Given the description of an element on the screen output the (x, y) to click on. 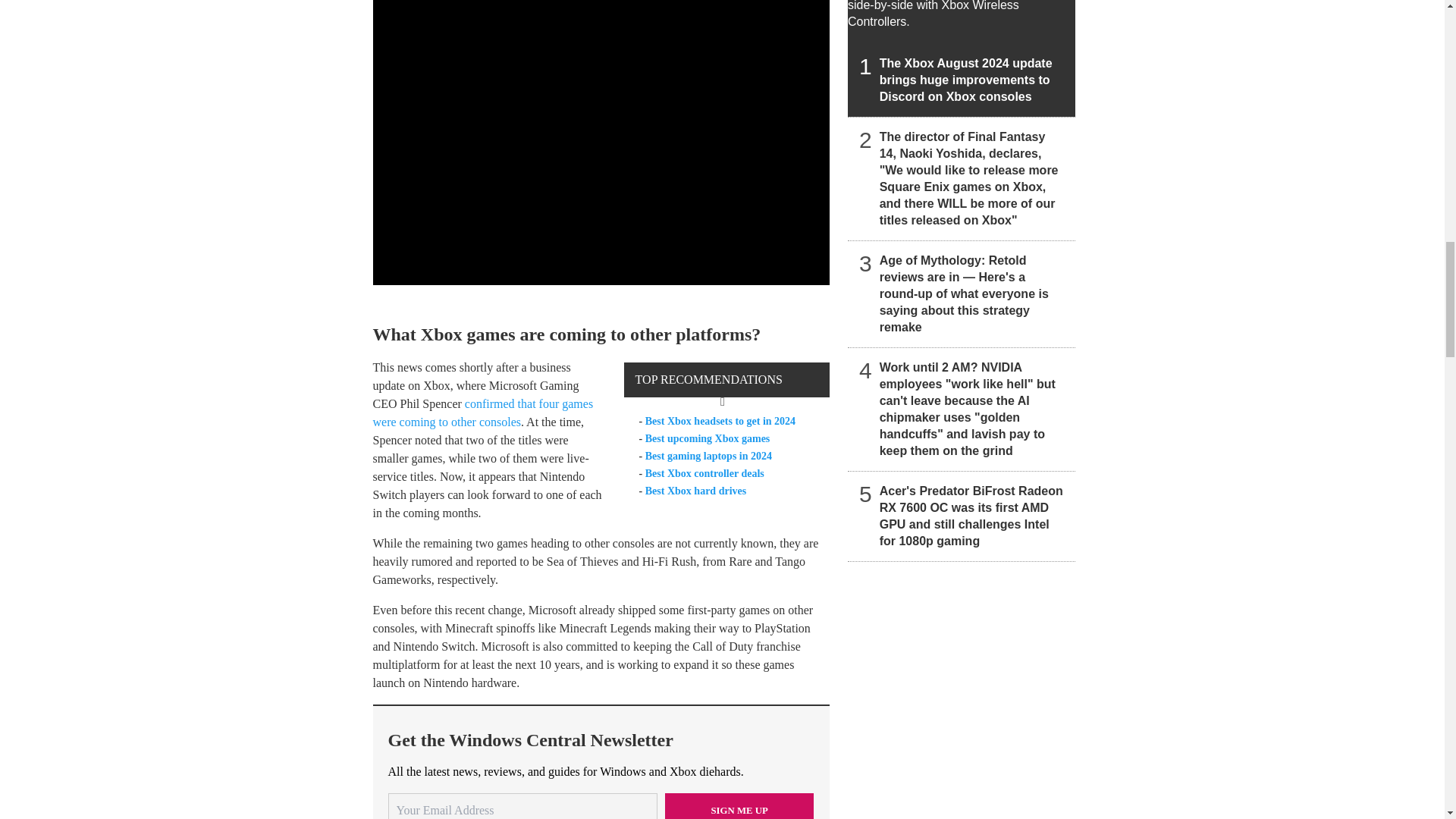
Best gaming laptops in 2024 (708, 455)
Sign me up (739, 806)
Best Xbox headsets to get in 2024 (719, 420)
Best Xbox controller deals (704, 473)
Best upcoming Xbox games (707, 438)
Best Xbox hard drives (695, 490)
